Given the description of an element on the screen output the (x, y) to click on. 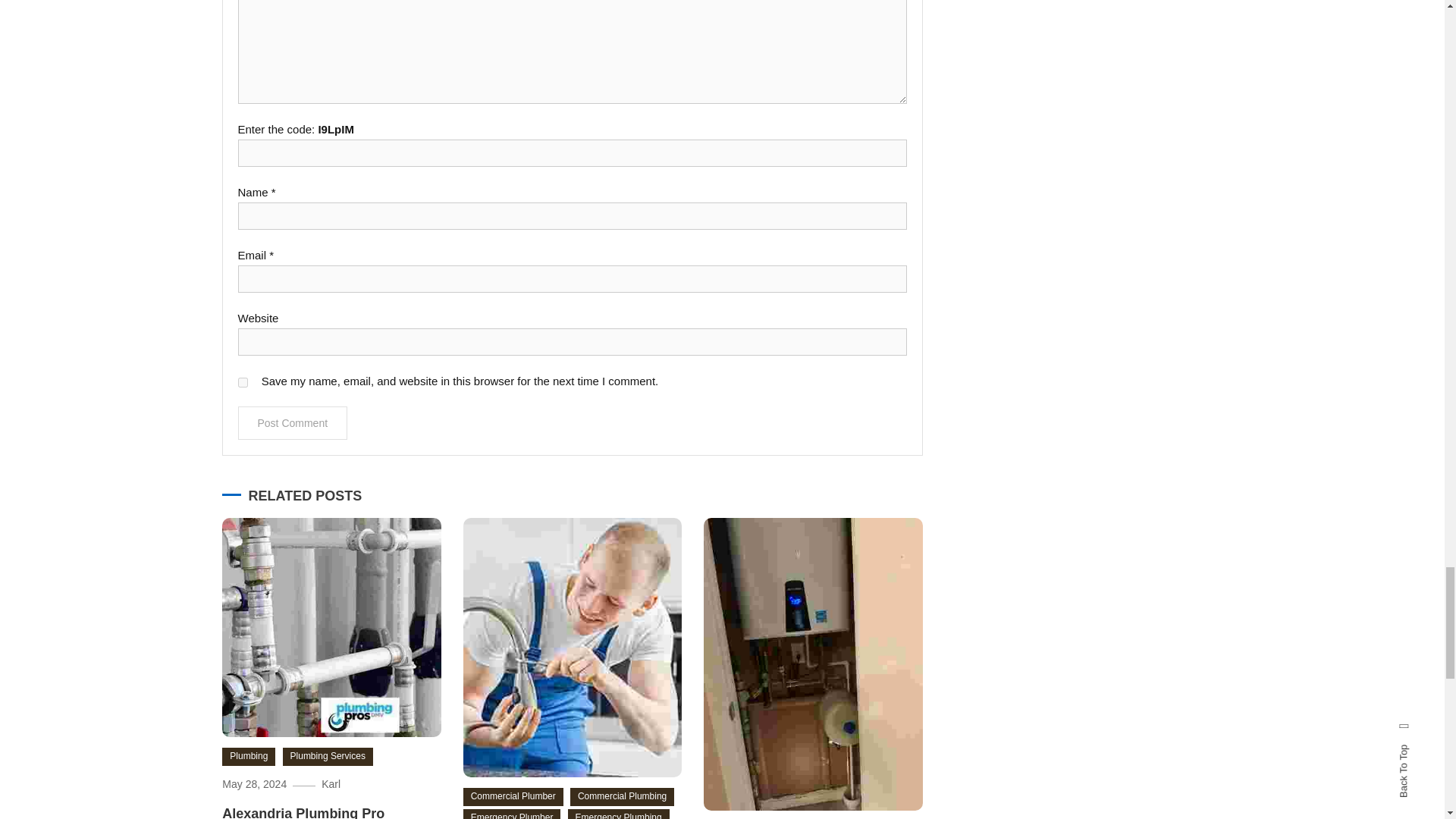
Post Comment (292, 422)
yes (242, 382)
